Given the description of an element on the screen output the (x, y) to click on. 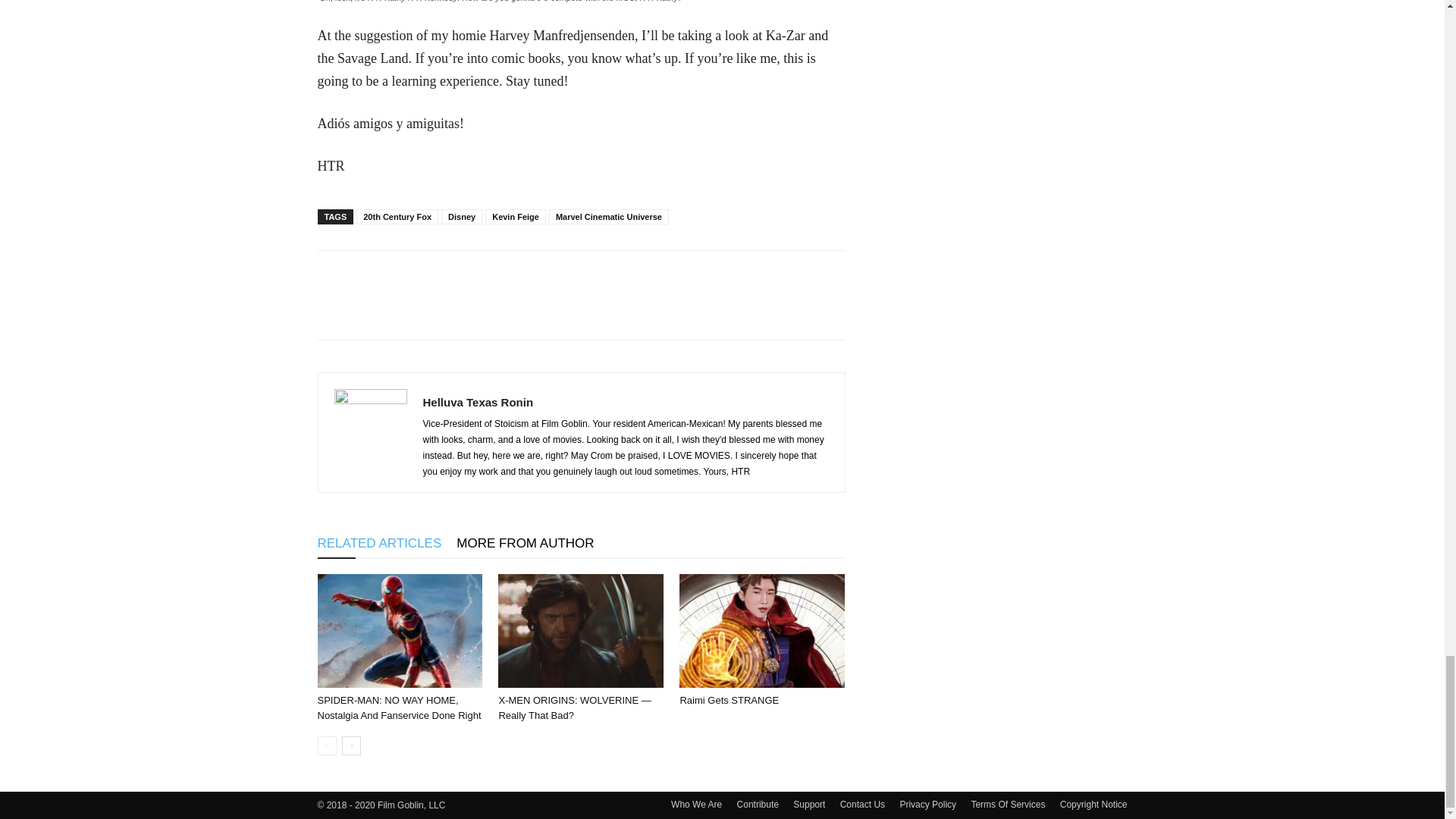
SPIDER-MAN: NO WAY HOME, Nostalgia And Fanservice Done Right (398, 707)
Raimi Gets STRANGE (761, 630)
SPIDER-MAN: NO WAY HOME, Nostalgia And Fanservice Done Right (399, 630)
